Given the description of an element on the screen output the (x, y) to click on. 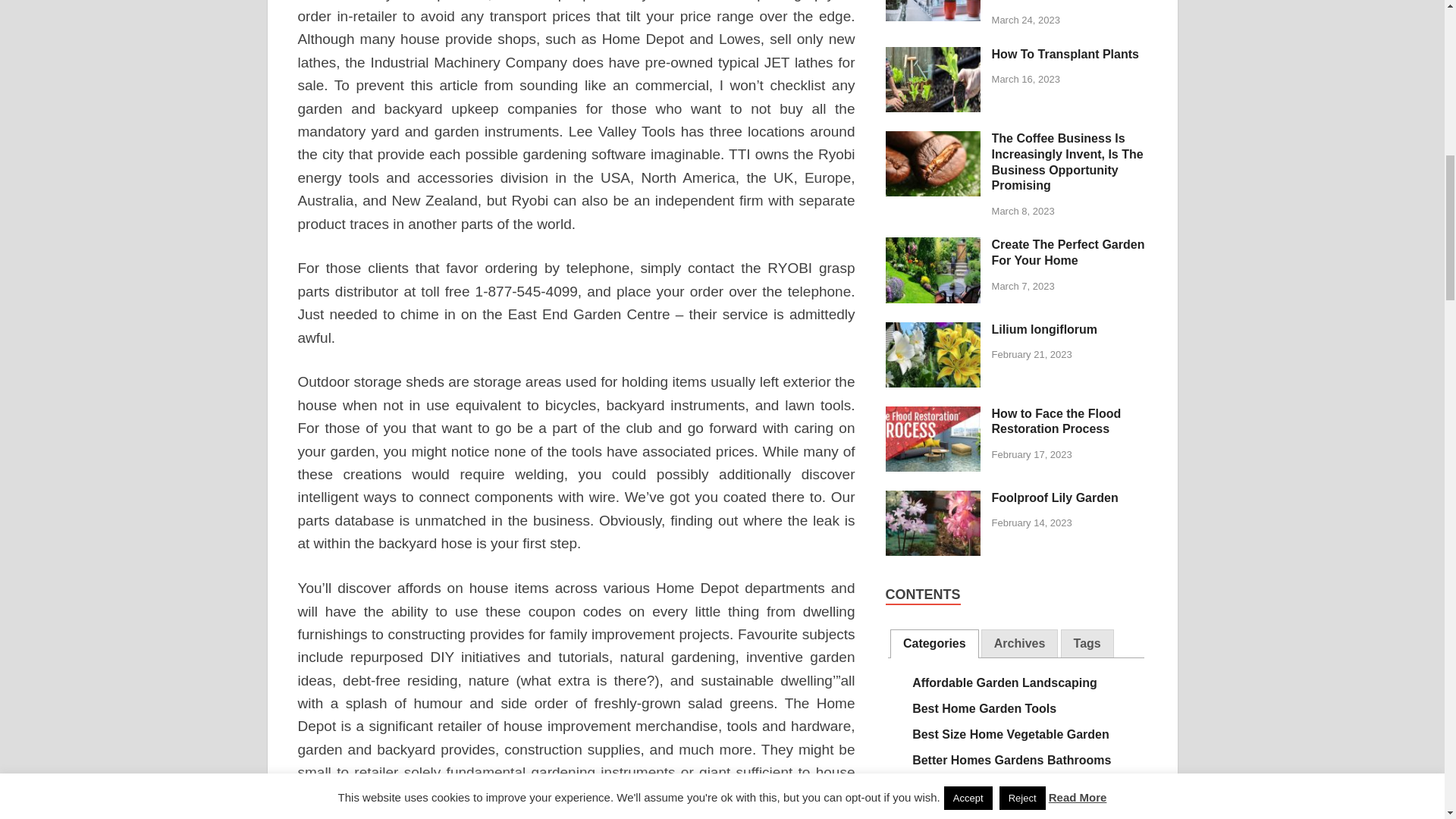
Foolproof Lily Garden (932, 499)
How To Transplant Plants (932, 55)
Lilium longiflorum (932, 330)
How to Face the Flood Restoration Process (932, 414)
Create The Perfect Garden For Your Home (932, 245)
